Given the description of an element on the screen output the (x, y) to click on. 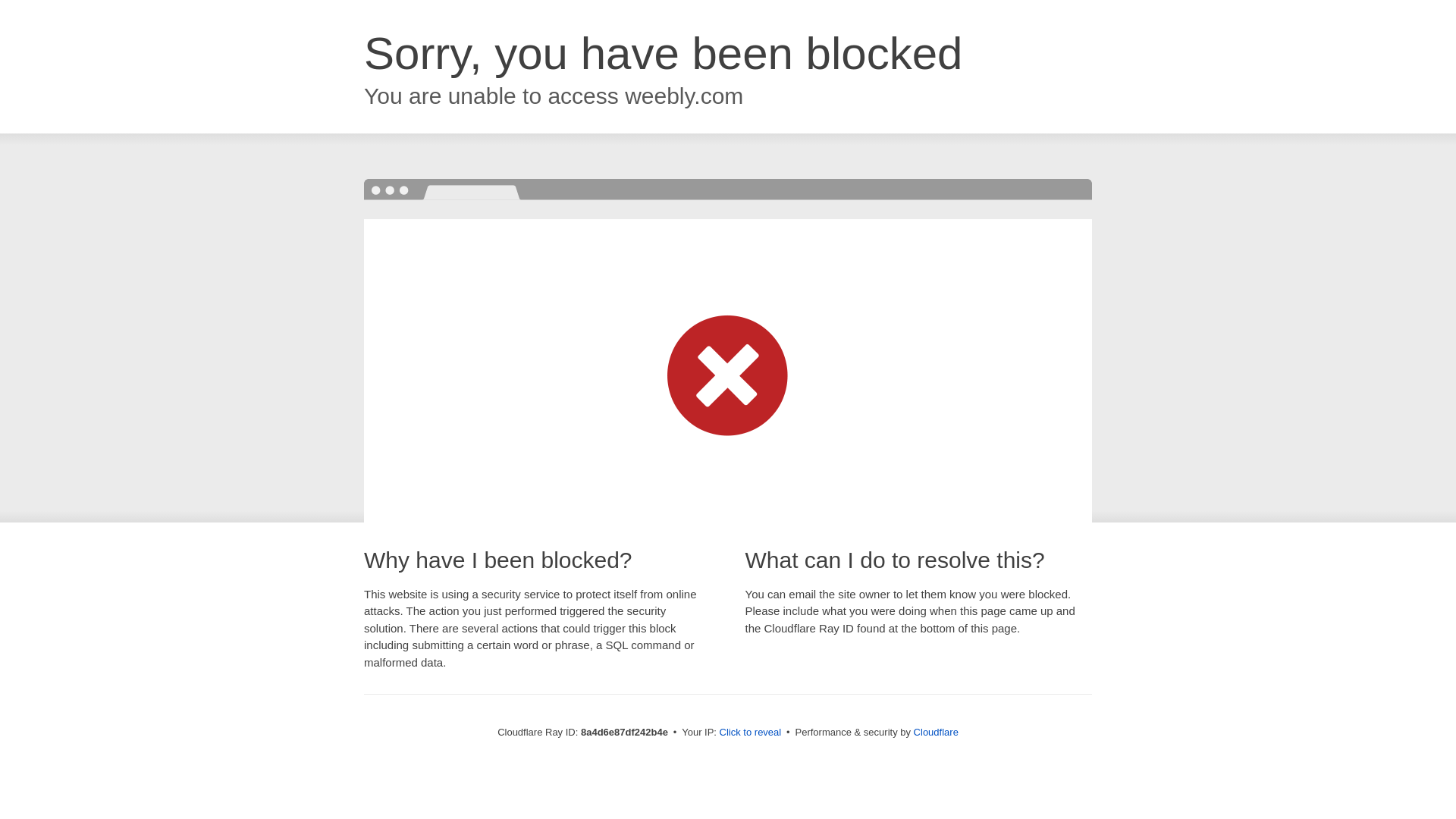
Cloudflare (936, 731)
Click to reveal (750, 732)
